Given the description of an element on the screen output the (x, y) to click on. 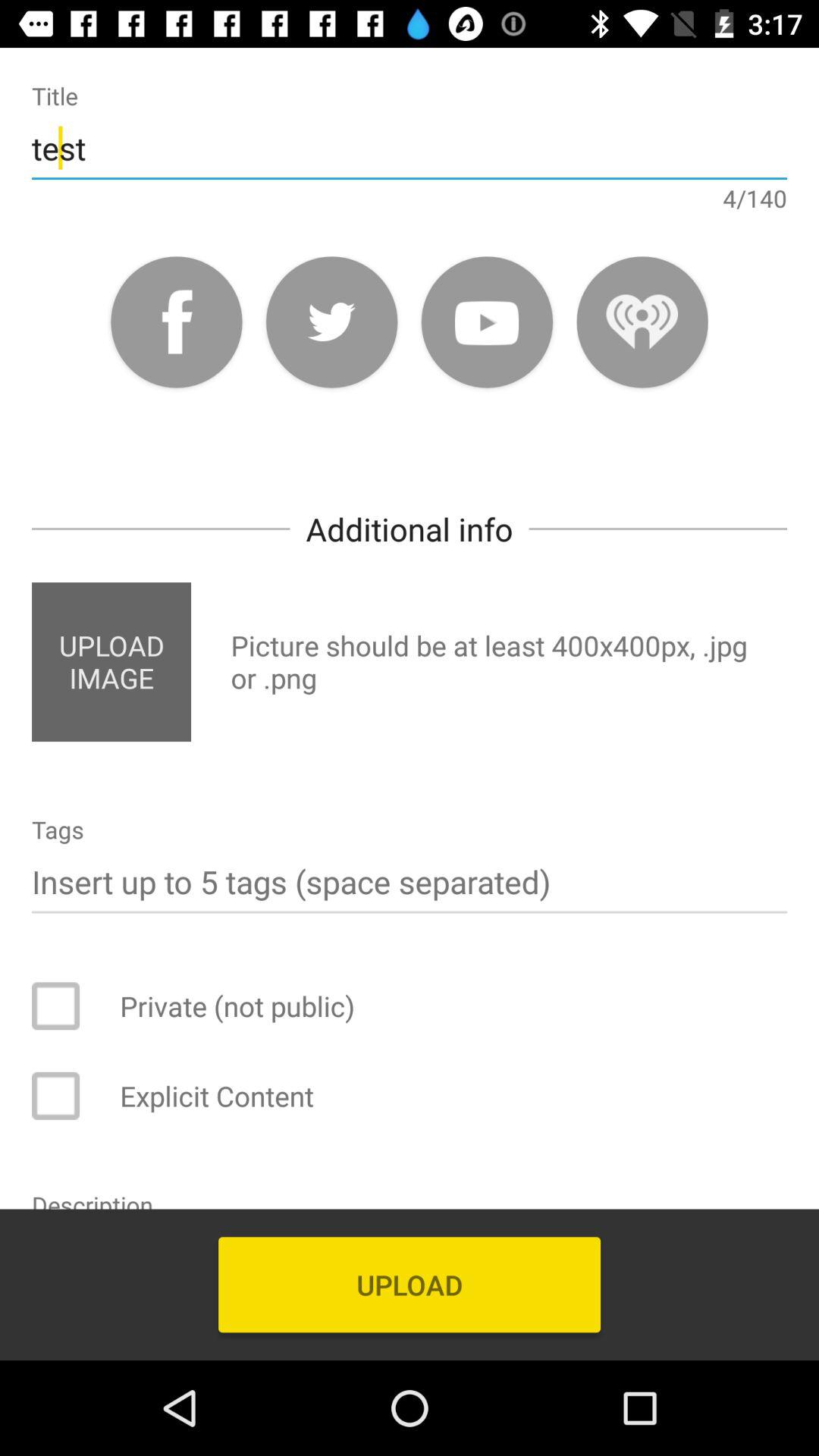
que se oiga tu voz (642, 321)
